Given the description of an element on the screen output the (x, y) to click on. 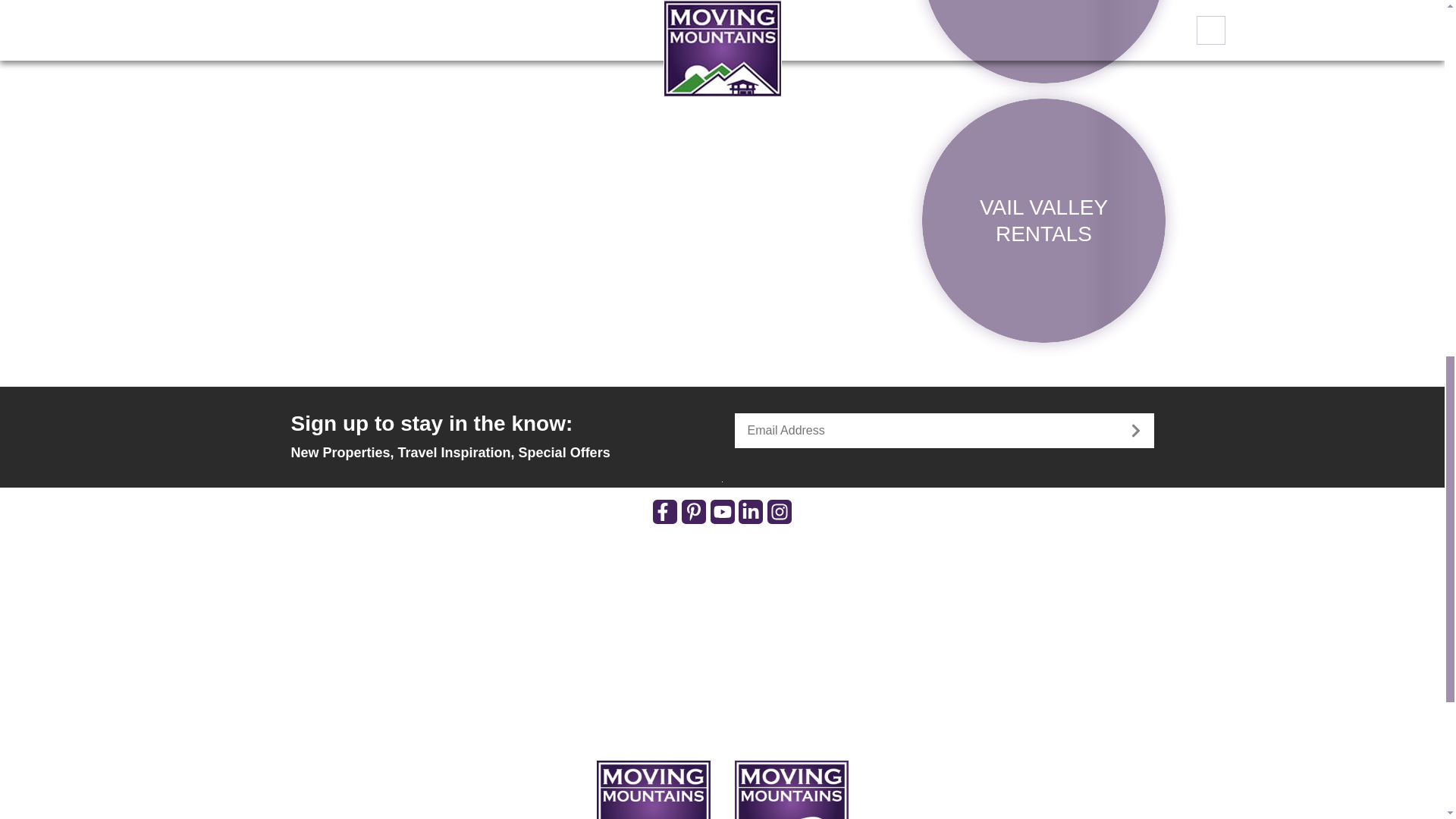
facebook (664, 511)
youtube (721, 511)
linkedin (750, 511)
instagram (779, 511)
pinterest (693, 511)
